Given the description of an element on the screen output the (x, y) to click on. 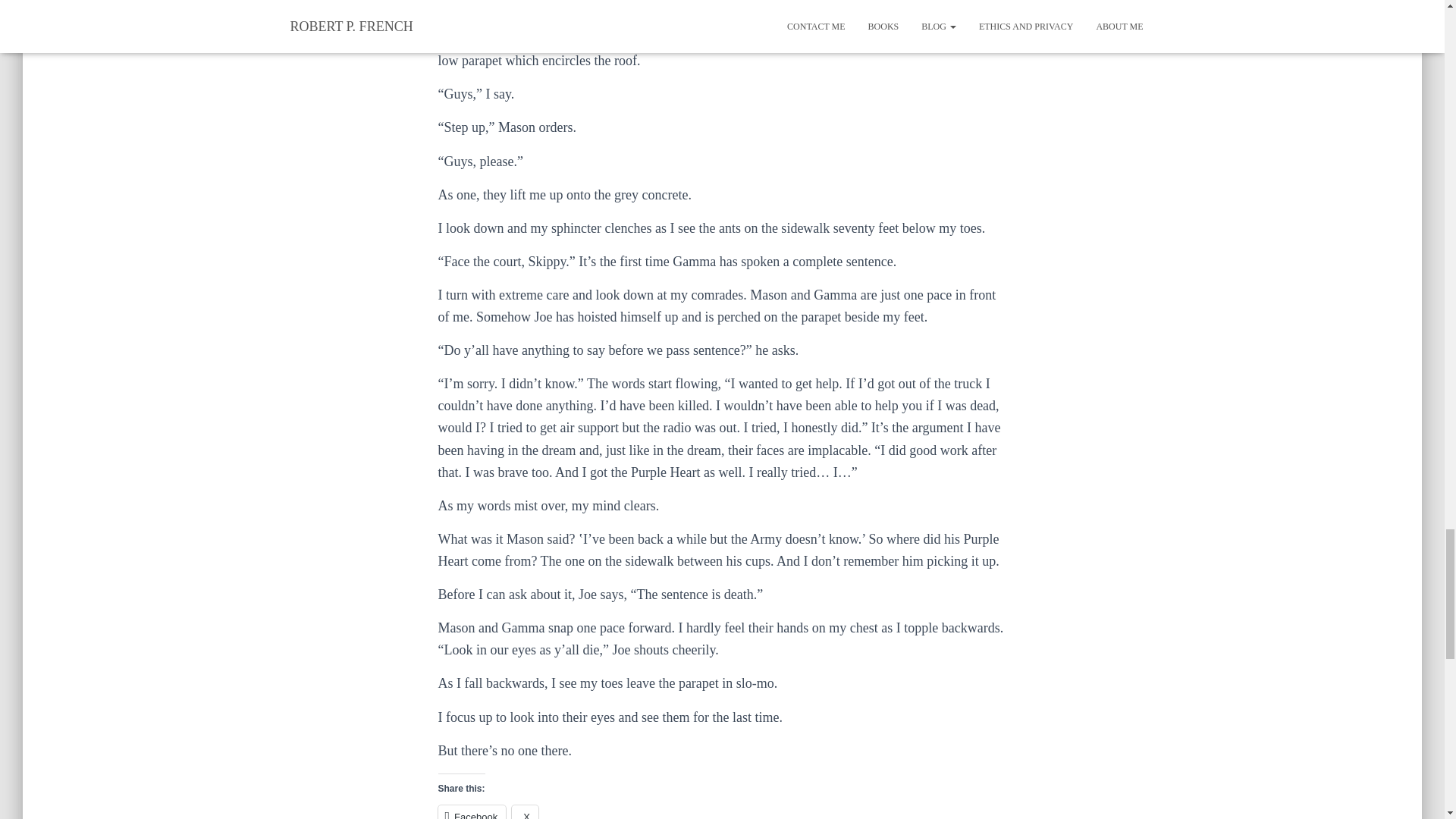
Click to share on X (525, 812)
Facebook (472, 812)
X (525, 812)
Click to share on Facebook (472, 812)
